Given the description of an element on the screen output the (x, y) to click on. 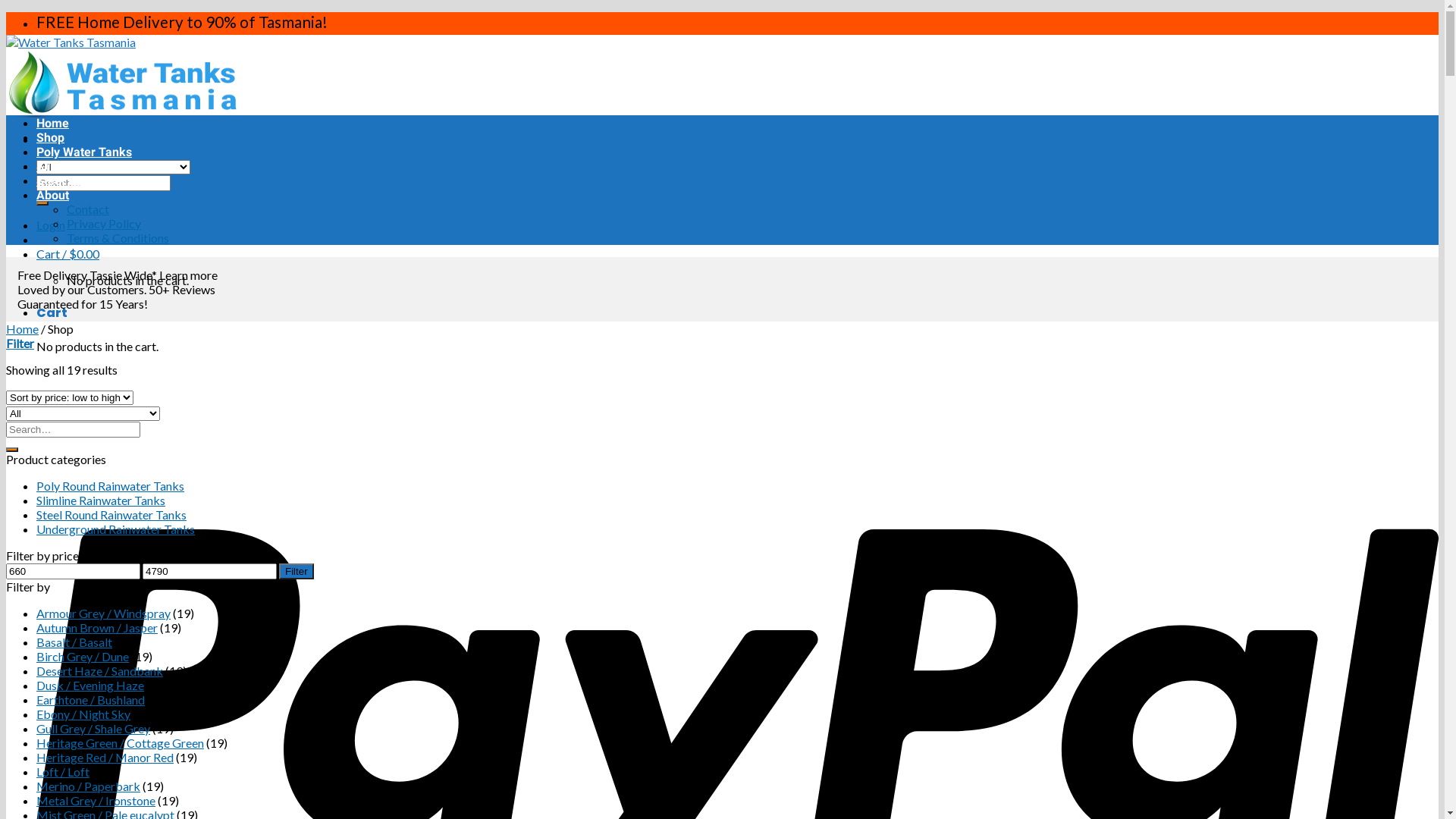
Autumn Brown / Jasper Element type: text (96, 627)
Underground Rainwater Tanks Element type: text (115, 528)
Poly Round Rainwater Tanks Element type: text (110, 485)
Birch Grey / Dune Element type: text (82, 656)
Home Element type: text (52, 123)
Privacy Policy Element type: text (103, 223)
Poly Water Tanks Element type: text (83, 151)
Basalt / Basalt Element type: text (74, 641)
Dusk / Evening Haze Element type: text (90, 684)
Merino / Paperbark Element type: text (88, 785)
Search Element type: text (42, 202)
Shop Element type: text (50, 137)
Steel Water Tanks Element type: text (86, 180)
Filter Element type: text (296, 571)
Slimline Water Tanks Element type: text (94, 166)
Desert Haze / Sandbank Element type: text (99, 670)
Metal Grey / Ironstone Element type: text (95, 800)
About Element type: text (52, 195)
Search Element type: text (12, 449)
Heritage Green / Cottage Green Element type: text (119, 742)
Armour Grey / Windspray Element type: text (103, 612)
Heritage Red / Manor Red Element type: text (104, 756)
Ebony / Night Sky Element type: text (83, 713)
Water Tanks Tasmania - Tanks Element type: hover (121, 76)
Cart / $0.00 Element type: text (67, 253)
Contact Element type: text (87, 208)
Filter Element type: text (20, 342)
Earthtone / Bushland Element type: text (90, 699)
Loft / Loft Element type: text (62, 771)
Slimline Rainwater Tanks Element type: text (100, 499)
Terms & Conditions Element type: text (117, 237)
Skip to content Element type: text (5, 11)
Login Element type: text (50, 224)
Home Element type: text (22, 328)
Steel Round Rainwater Tanks Element type: text (111, 514)
Gull Grey / Shale Grey Element type: text (93, 728)
